Given the description of an element on the screen output the (x, y) to click on. 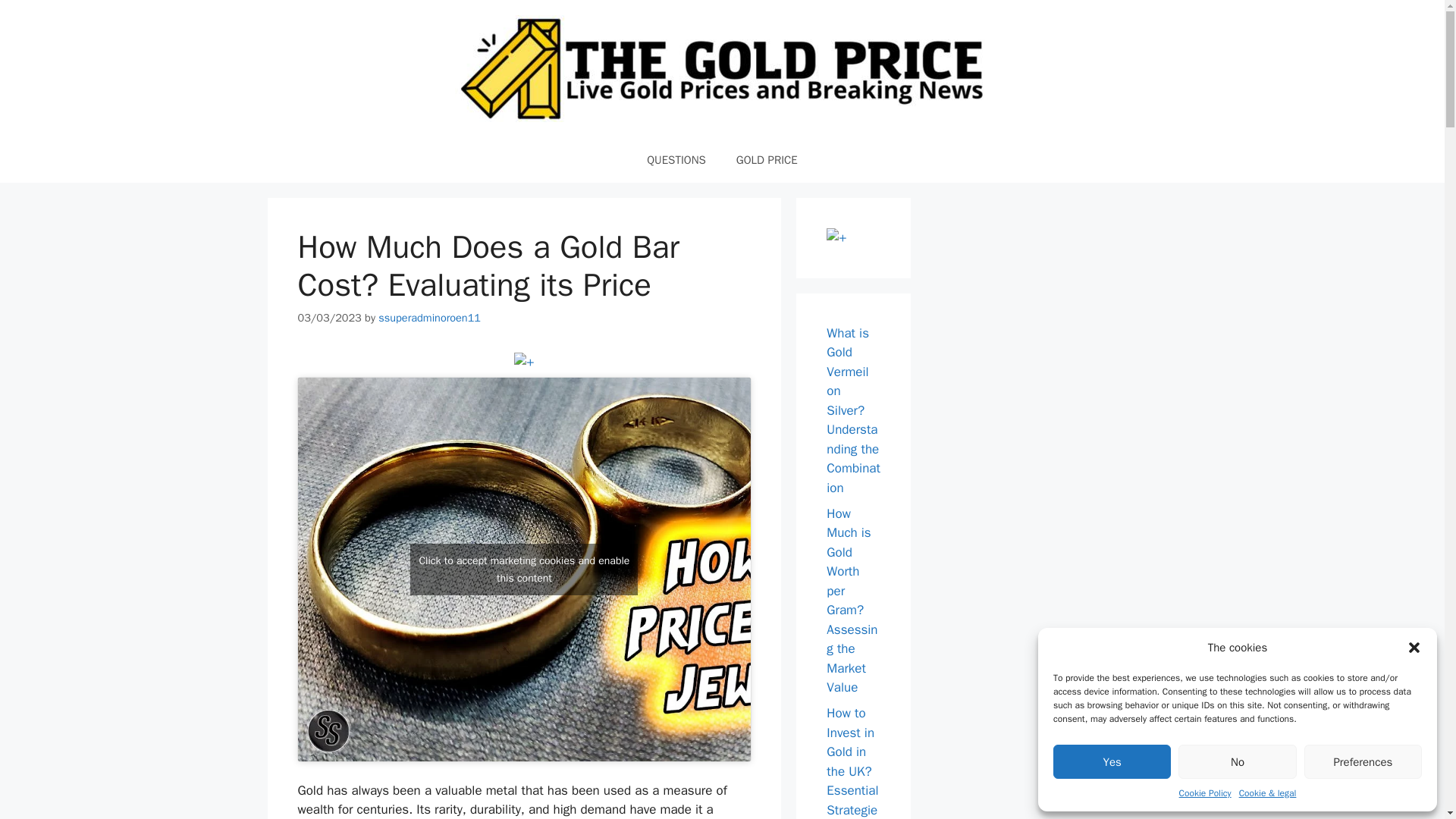
Yes (1111, 761)
View all posts by ssuperadminoroen11 (429, 317)
Cookie Policy (1205, 793)
GOLD PRICE (766, 159)
Preferences (1363, 761)
No (1236, 761)
Click to accept marketing cookies and enable this content (523, 569)
QUESTIONS (675, 159)
ssuperadminoroen11 (429, 317)
